Given the description of an element on the screen output the (x, y) to click on. 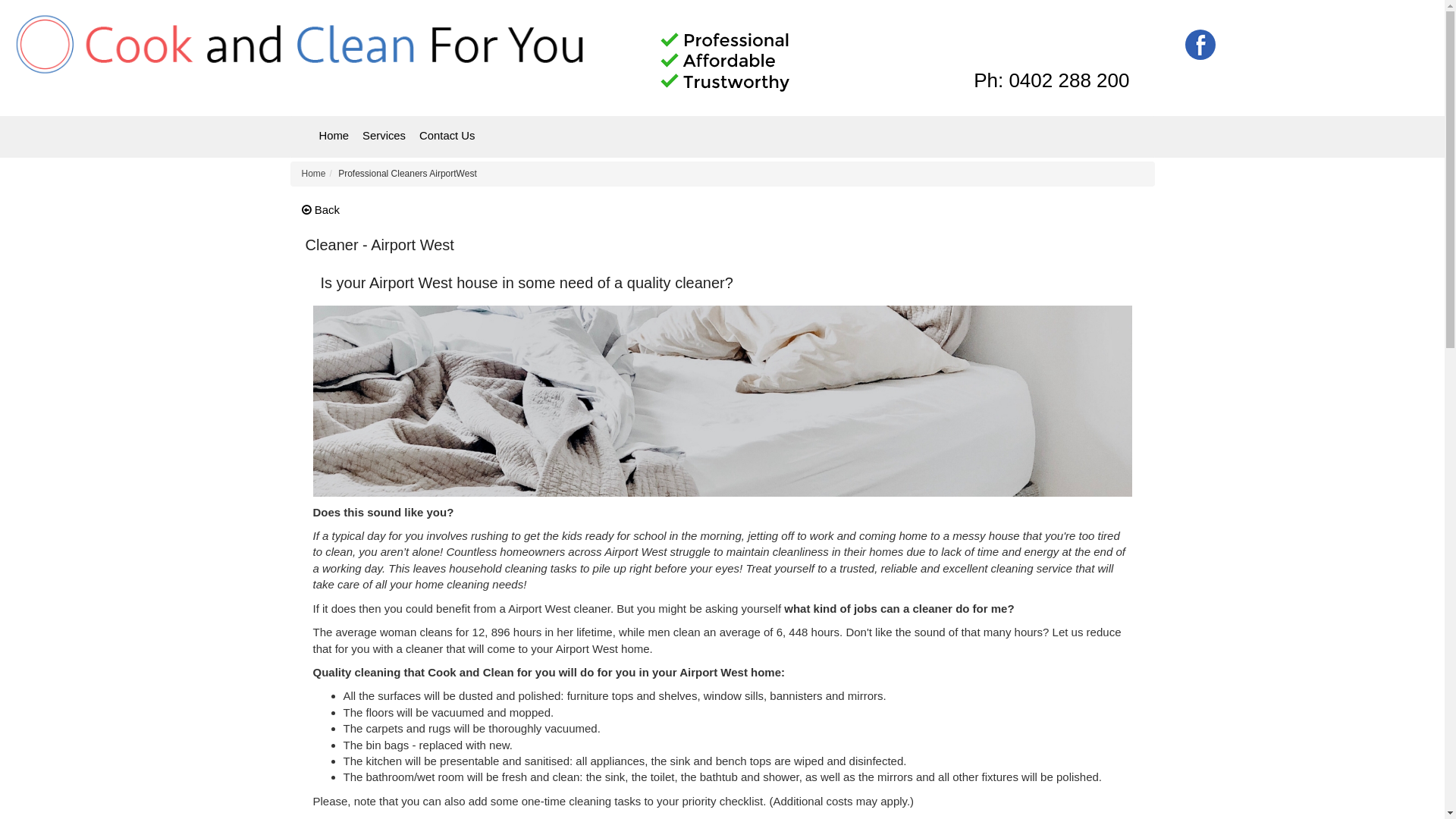
Home Element type: text (333, 135)
Home Element type: text (313, 173)
Facebook Element type: text (1200, 44)
 Back Element type: text (320, 209)
Services Element type: text (383, 135)
Contact Us Element type: text (446, 135)
